Given the description of an element on the screen output the (x, y) to click on. 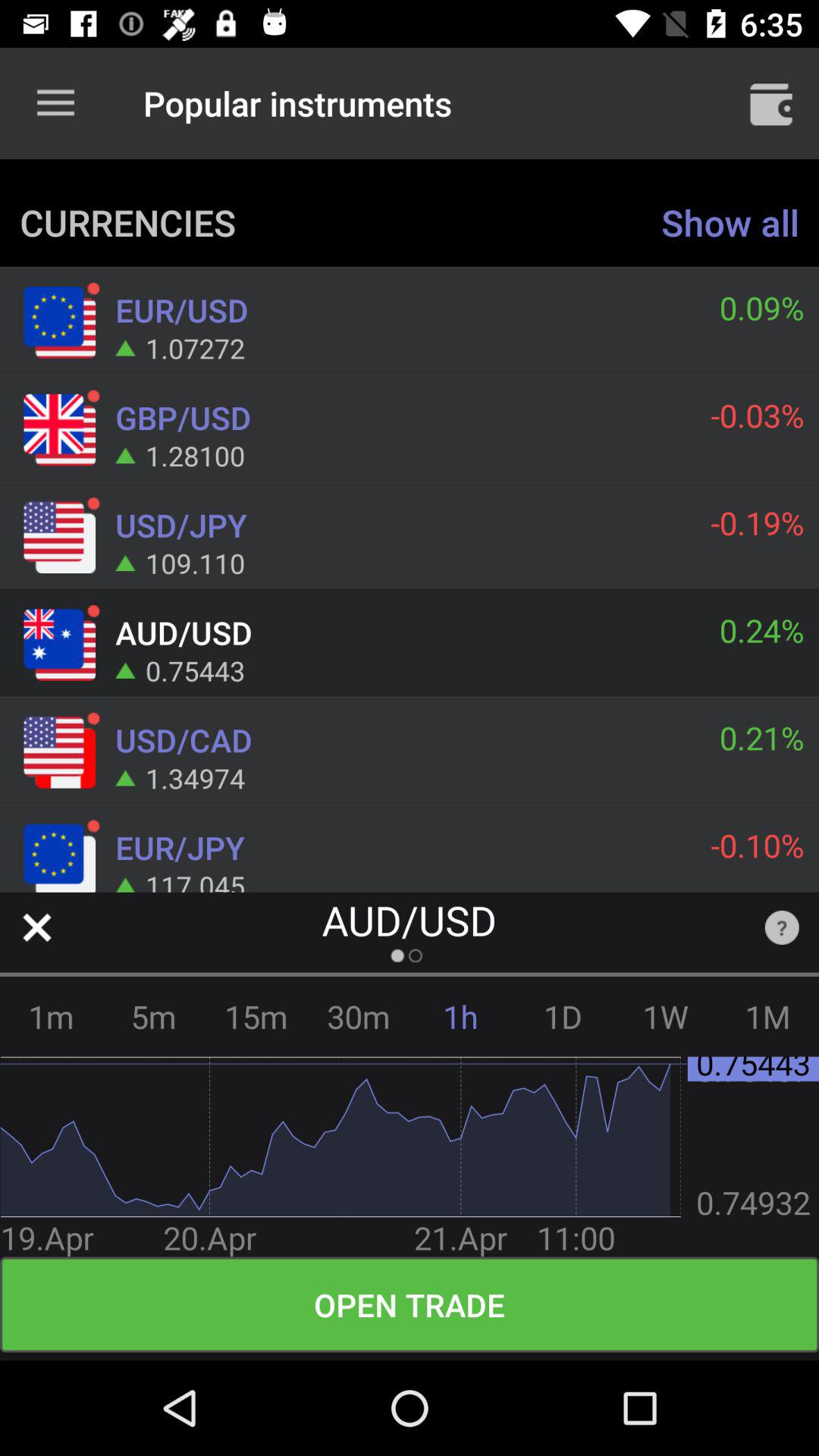
turn off 1w icon (665, 1016)
